Given the description of an element on the screen output the (x, y) to click on. 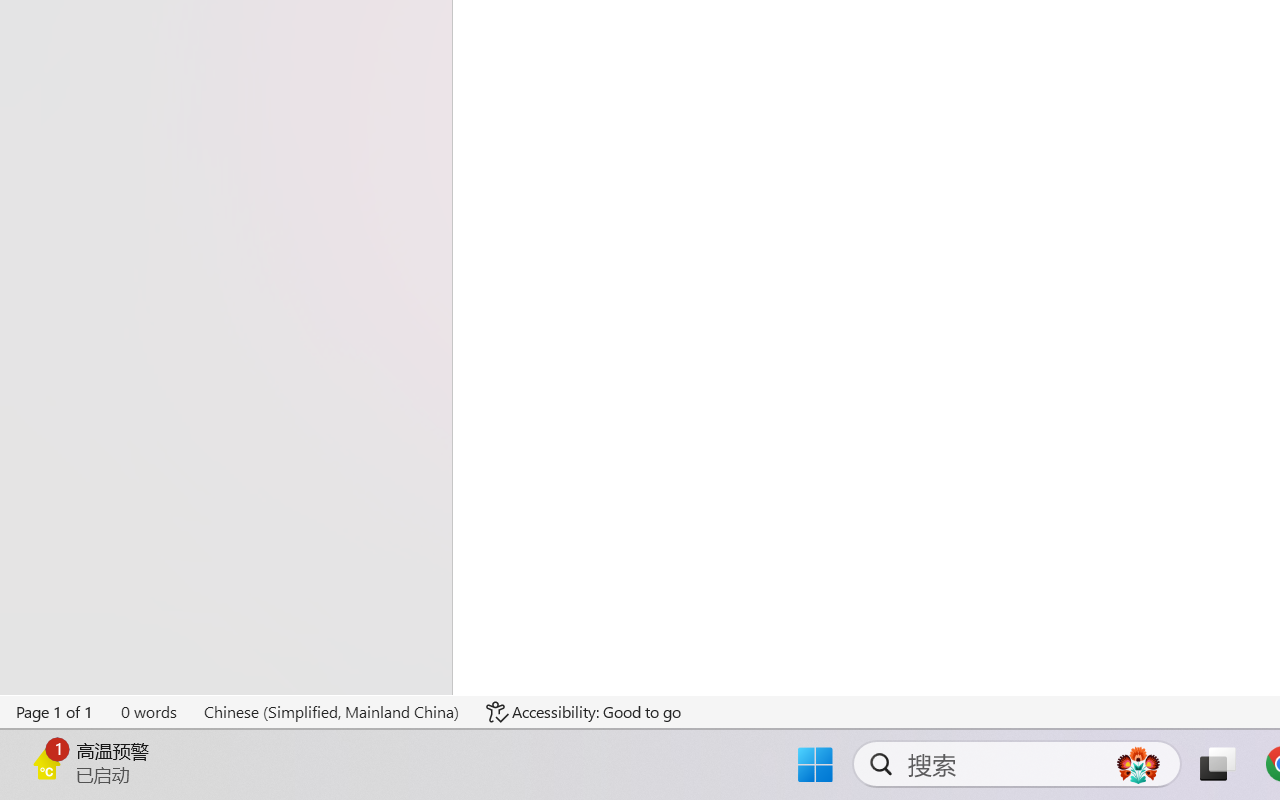
Language Chinese (Simplified, Mainland China) (331, 712)
